Given the description of an element on the screen output the (x, y) to click on. 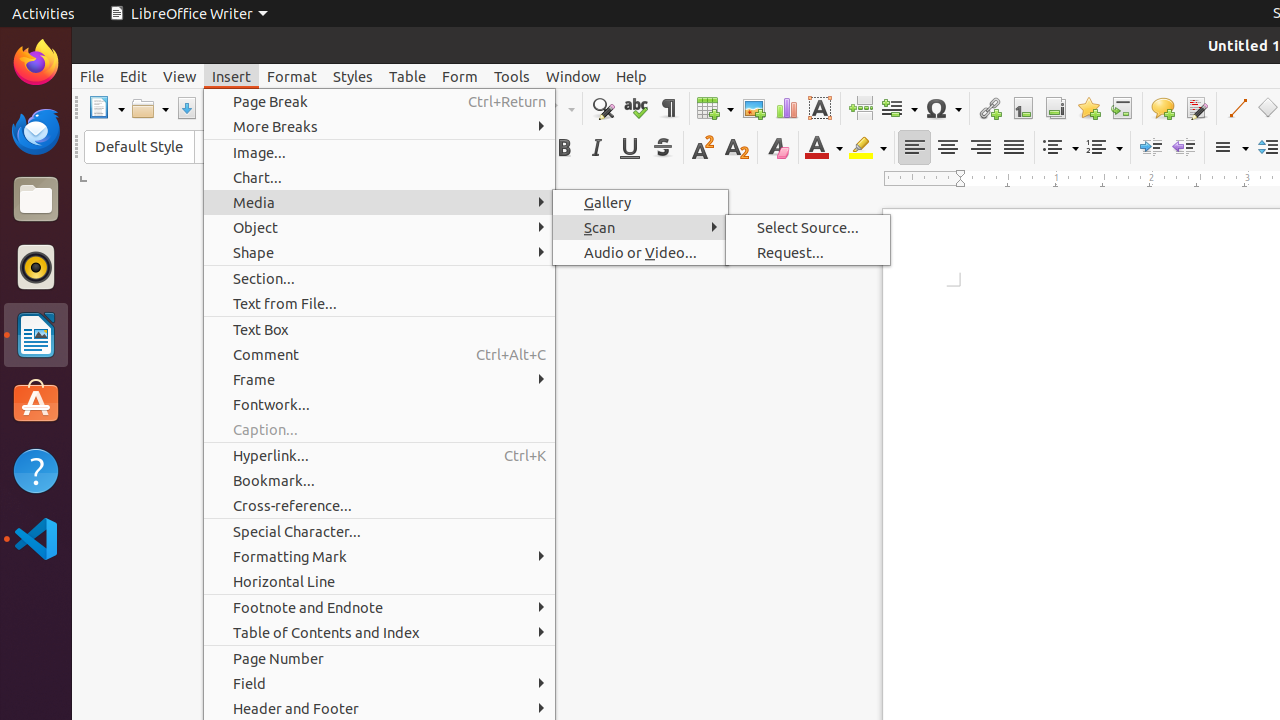
Page Number Element type: menu-item (379, 658)
Page Break Element type: push-button (860, 108)
LibreOffice Writer Element type: push-button (36, 334)
Symbol Element type: push-button (943, 108)
Line Spacing Element type: push-button (1230, 147)
